Given the description of an element on the screen output the (x, y) to click on. 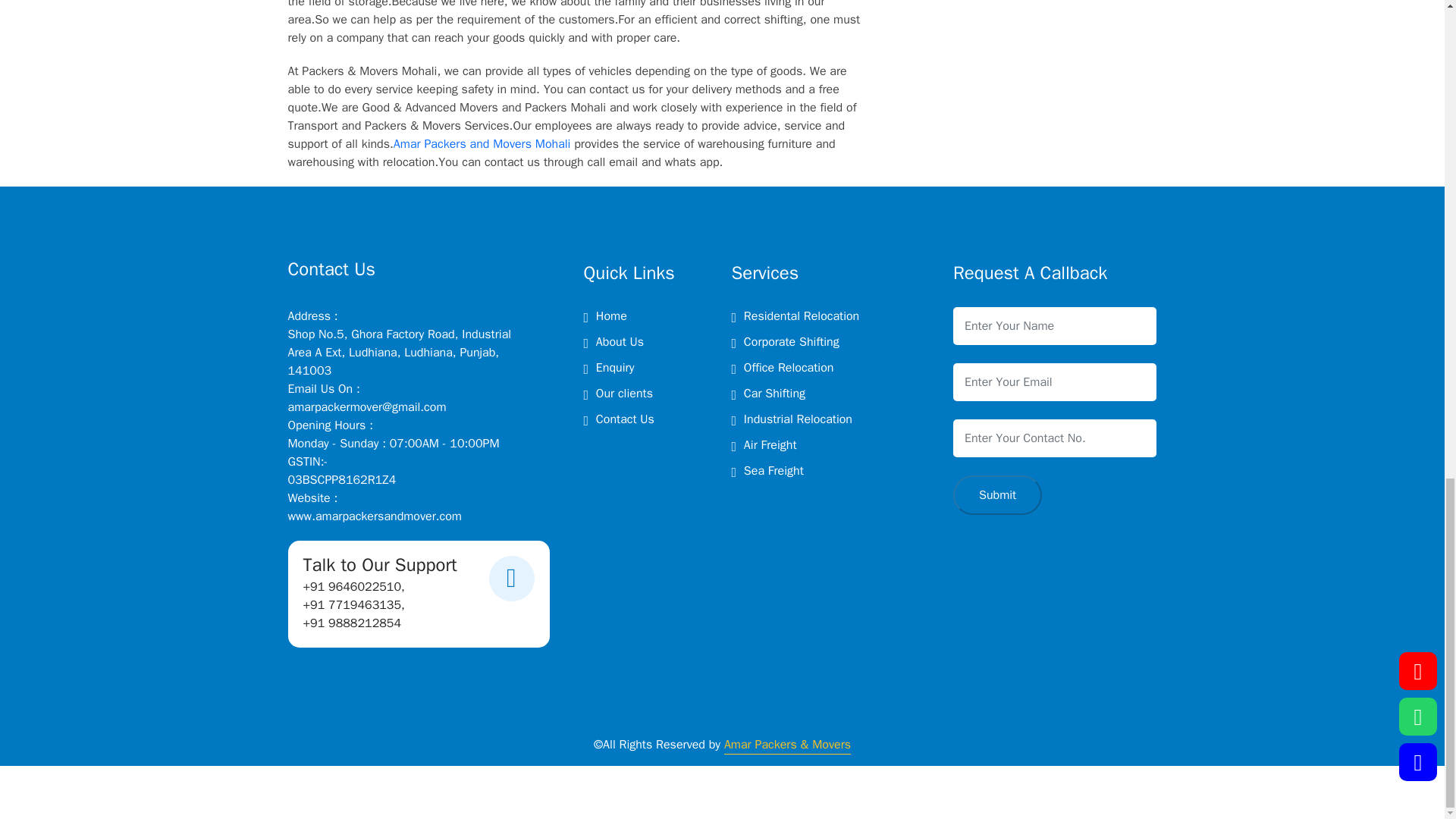
Amar Packers and Movers Mohali (481, 144)
